Given the description of an element on the screen output the (x, y) to click on. 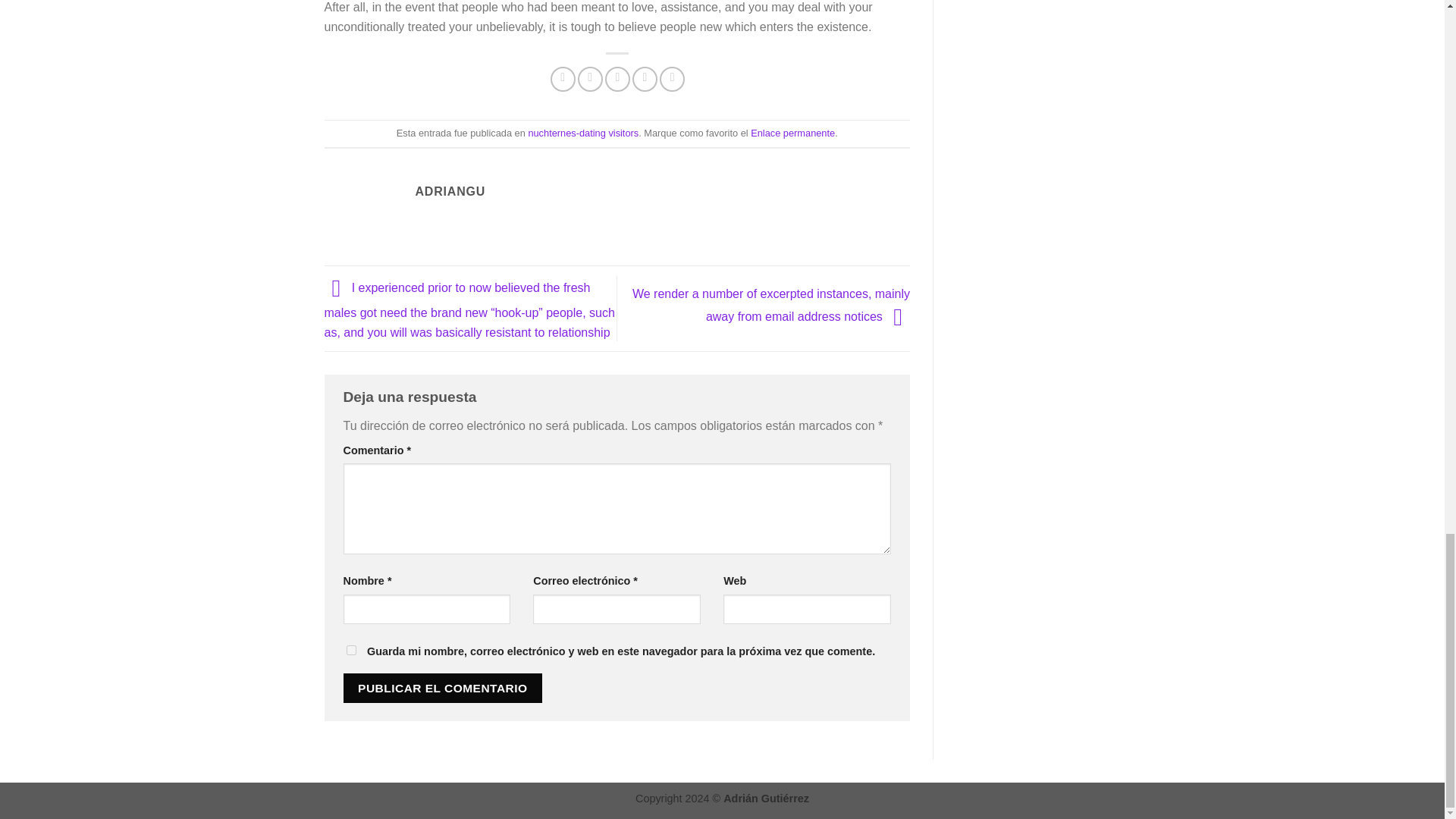
Publicar el comentario (441, 687)
Compartir en Twitter (590, 78)
yes (350, 650)
Compartir en Facebook (562, 78)
Publicar el comentario (441, 687)
Compartir en LinkedIn (671, 78)
Pinear en Pinterest (644, 78)
nuchternes-dating visitors (583, 132)
Enlace permanente (792, 132)
